Given the description of an element on the screen output the (x, y) to click on. 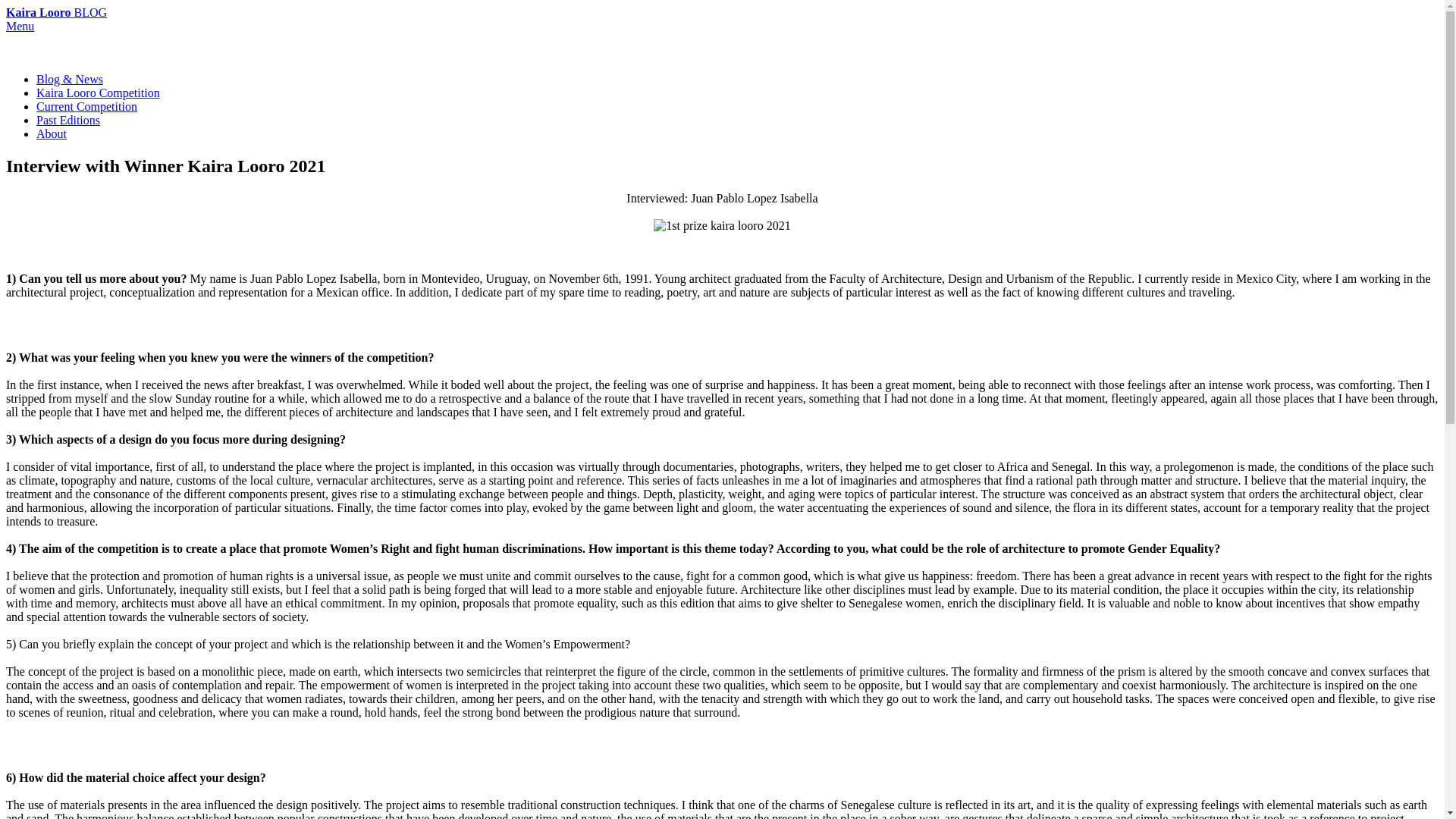
Kaira Looro BLOG (55, 11)
Current Competition (86, 106)
Past Editions (68, 119)
Menu (19, 25)
About (51, 133)
Kaira Looro Competition (98, 92)
